Given the description of an element on the screen output the (x, y) to click on. 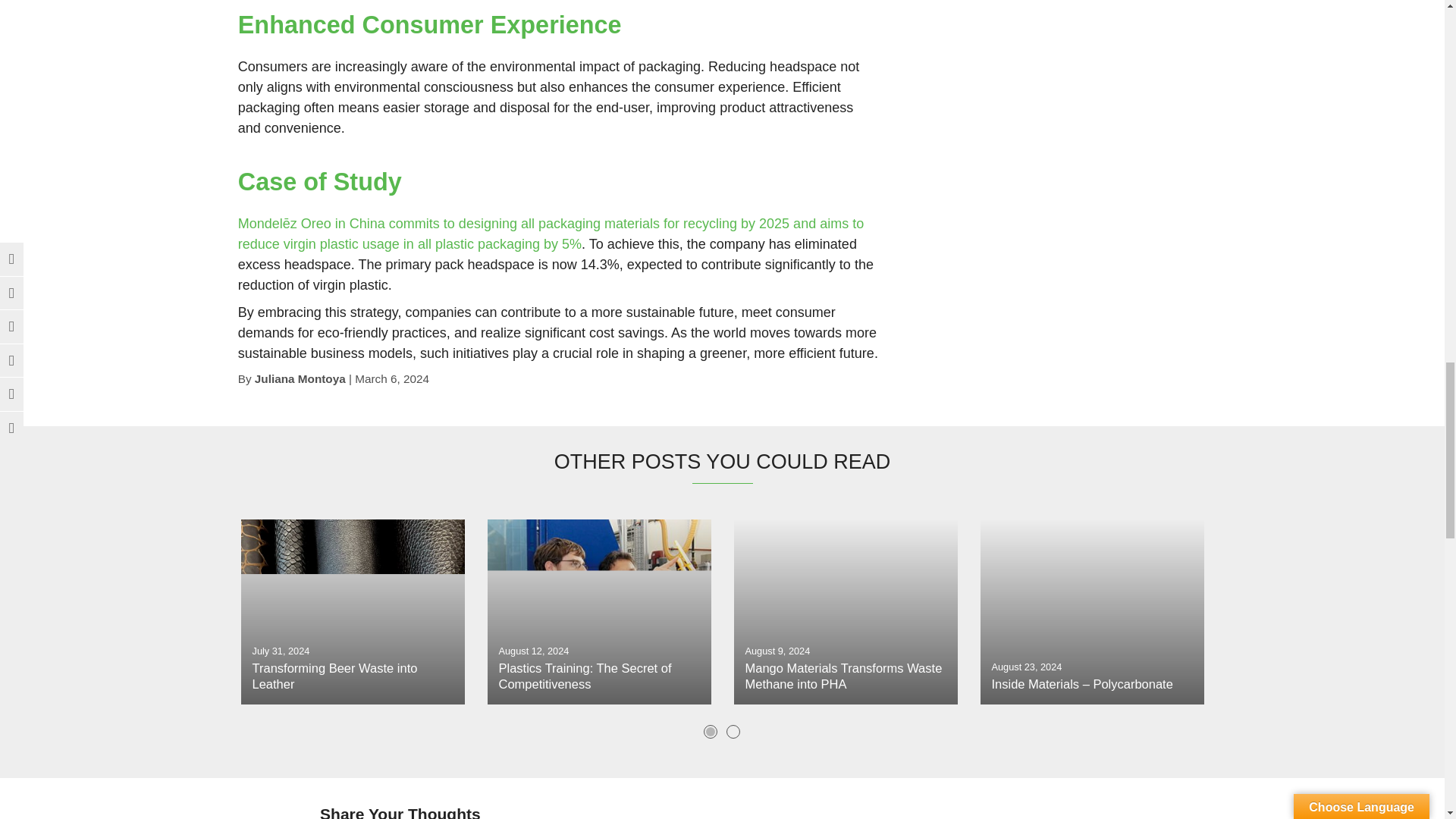
Transforming Beer Waste into Leather (352, 611)
Mango Materials Transforms Waste Methane into PHA (845, 611)
Plastics Training: The Secret of Competitiveness (598, 611)
